Given the description of an element on the screen output the (x, y) to click on. 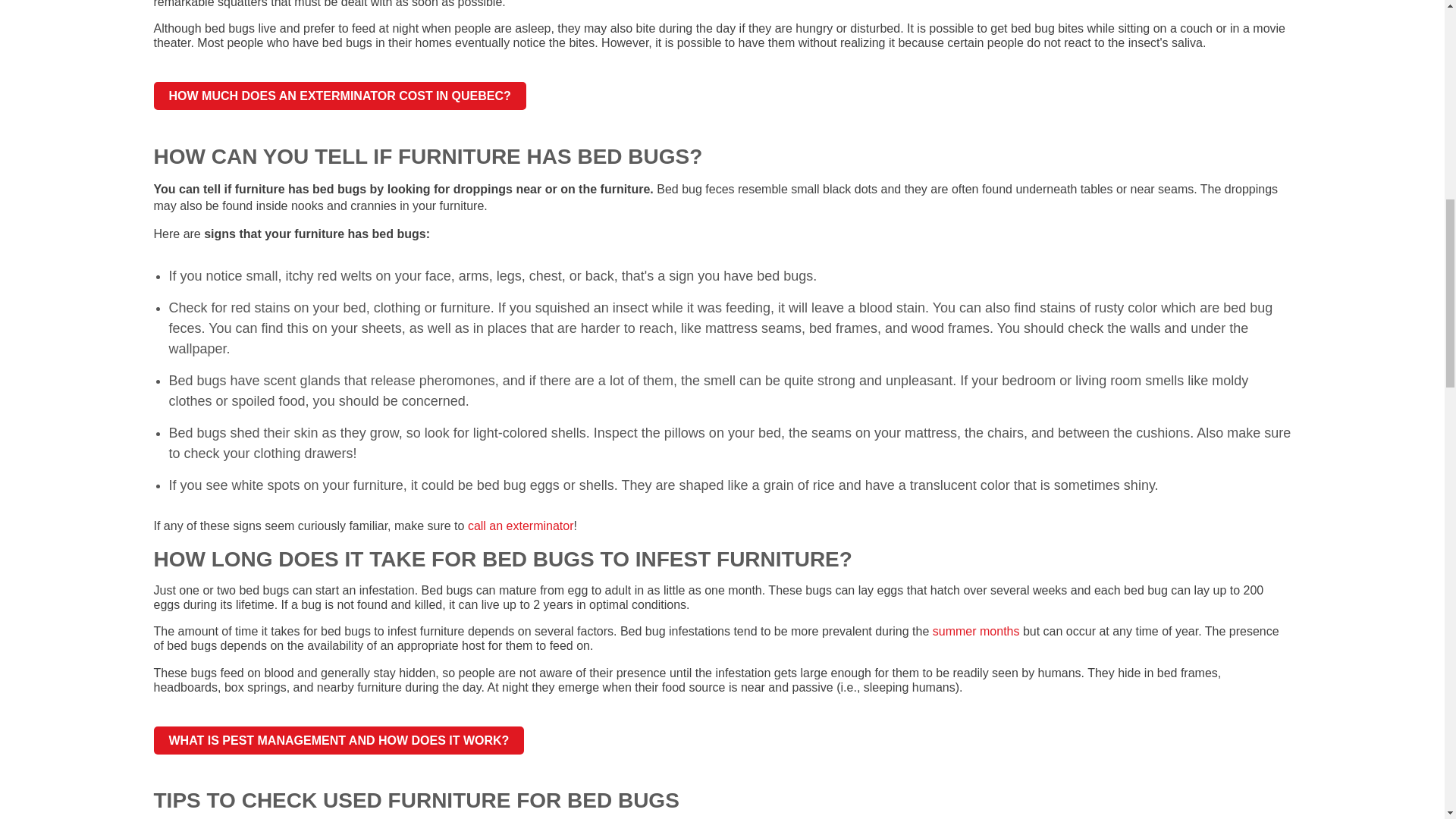
WHAT IS PEST MANAGEMENT AND HOW DOES IT WORK? (338, 740)
HOW MUCH DOES AN EXTERMINATOR COST IN QUEBEC? (338, 95)
call an exterminator (520, 525)
summer months (976, 631)
